Given the description of an element on the screen output the (x, y) to click on. 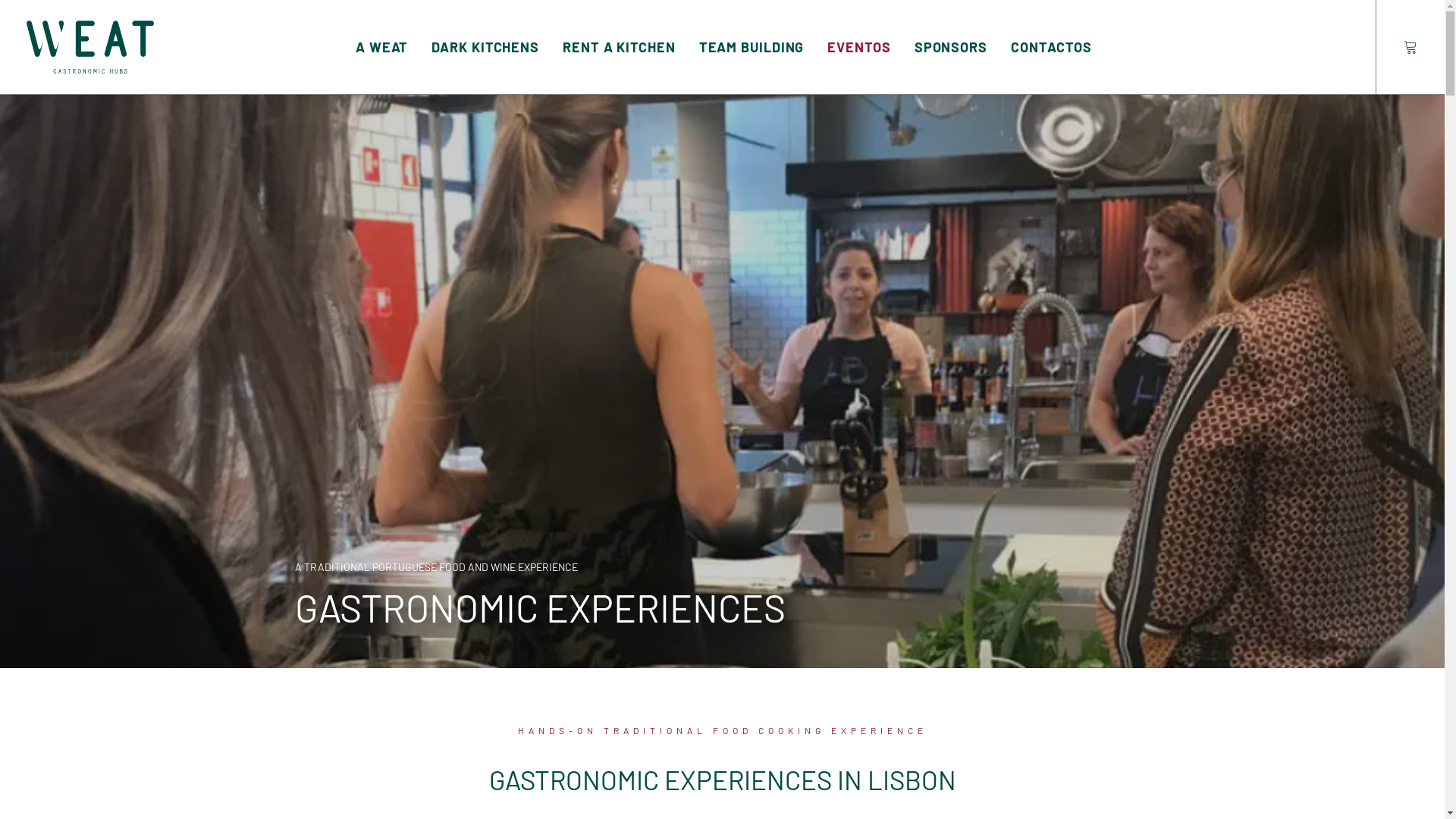
TEAM BUILDING Element type: text (751, 47)
DARK KITCHENS Element type: text (484, 47)
RENT A KITCHEN Element type: text (619, 47)
CONTACTOS Element type: text (1051, 47)
SPONSORS Element type: text (950, 47)
EVENTOS Element type: text (858, 47)
A WEAT Element type: text (381, 47)
cart Element type: hover (1410, 47)
